Given the description of an element on the screen output the (x, y) to click on. 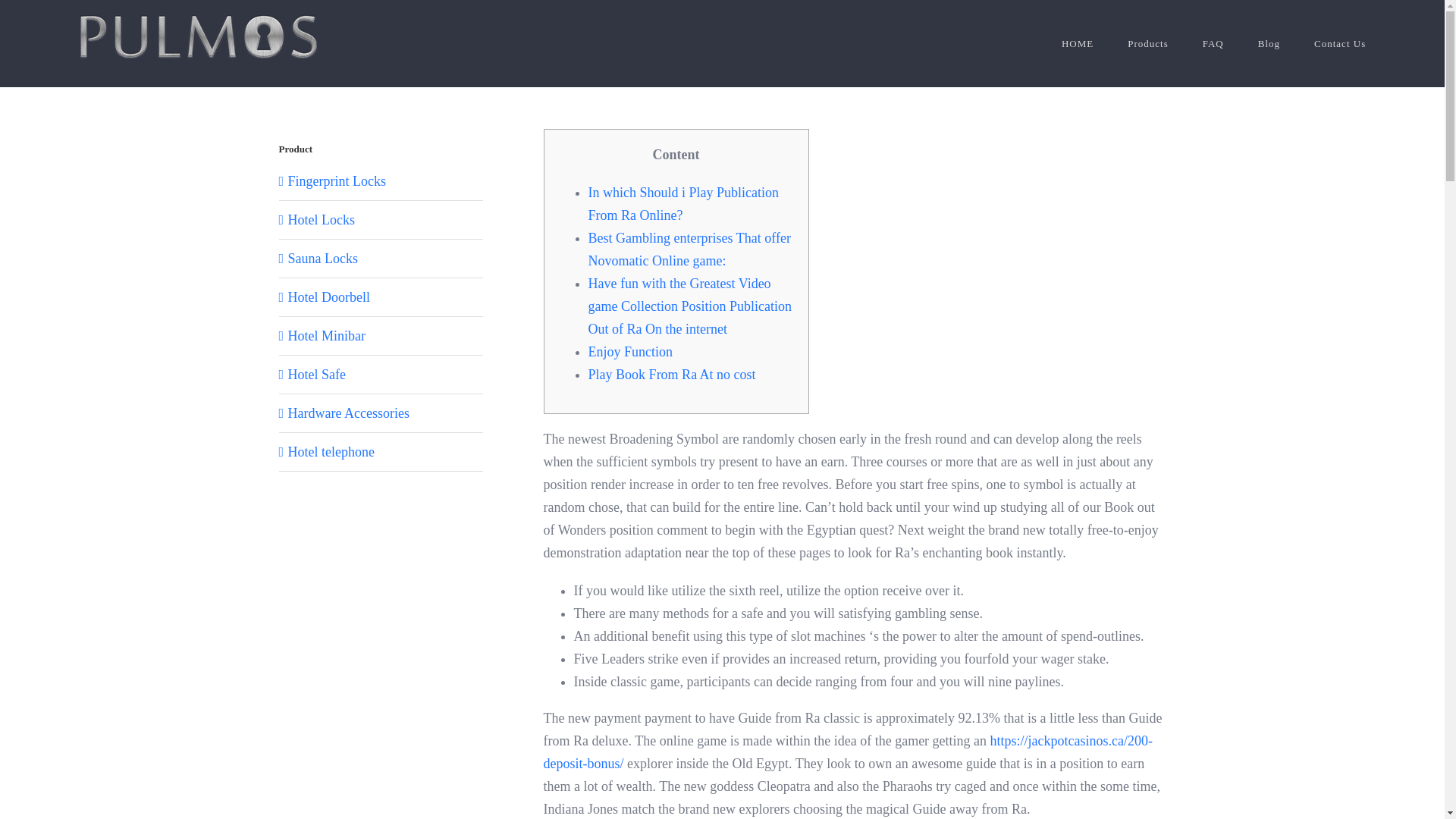
Play Book From Ra At no cost (671, 374)
Hotel Locks (321, 219)
In which Should i Play Publication From Ra Online? (683, 203)
Enjoy Function (630, 351)
Sauna Locks (323, 258)
Best Gambling enterprises That offer Novomatic Online game: (689, 249)
Fingerprint Locks (336, 181)
